Given the description of an element on the screen output the (x, y) to click on. 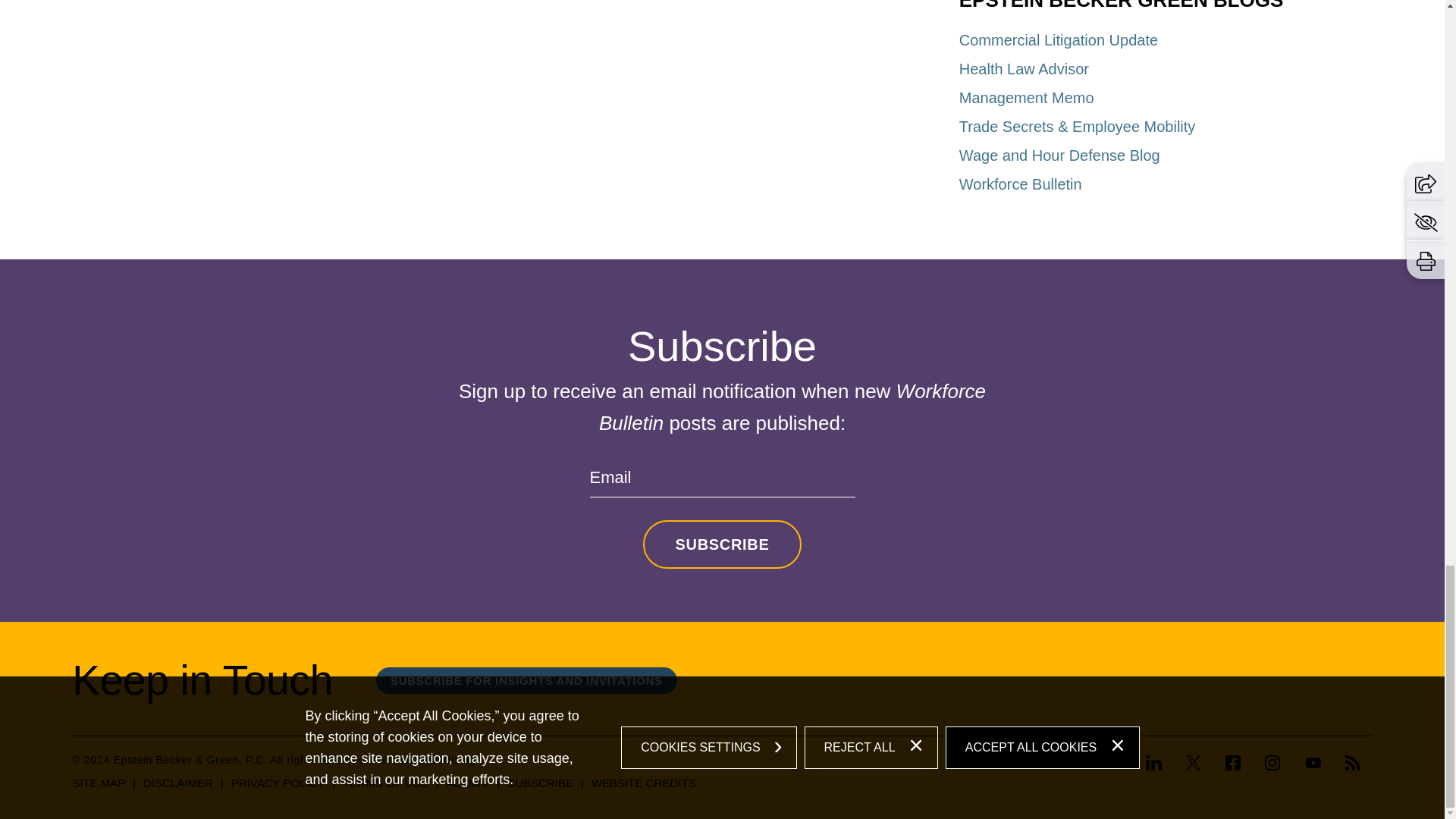
Linkedin (1159, 764)
Instagram (1273, 764)
Twitter (1193, 762)
Facebook (1232, 764)
Instagram (1273, 762)
Facebook (1232, 762)
Linkedin (1153, 762)
Twitter (1192, 764)
